Given the description of an element on the screen output the (x, y) to click on. 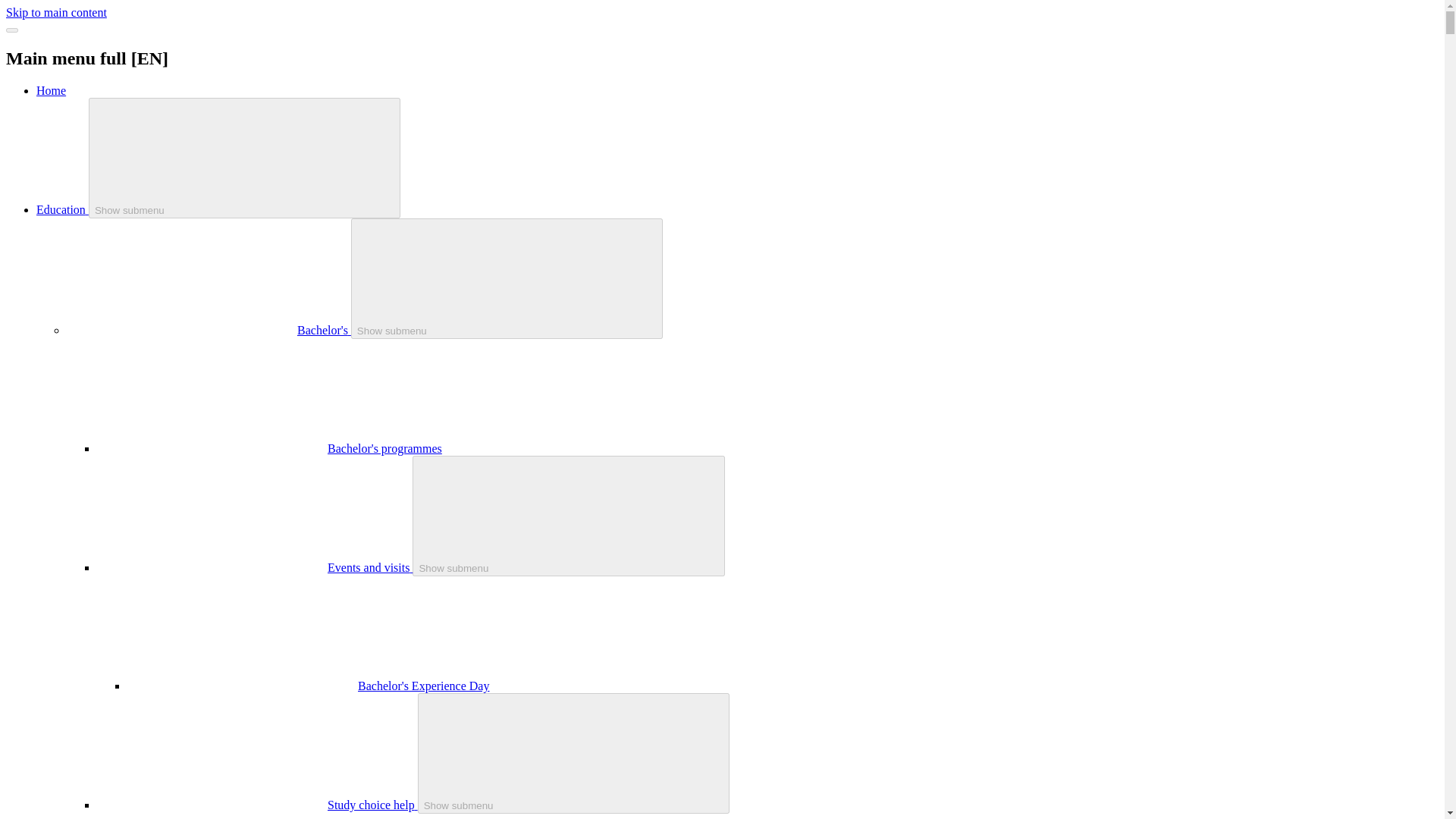
Home (50, 90)
Education (62, 209)
Skip to main content (55, 11)
Show submenu (573, 753)
Bachelor's programmes (384, 448)
Bachelor's (323, 329)
Show submenu (506, 278)
Show submenu (244, 157)
Study choice help (372, 804)
Bachelor's Experience Day (423, 685)
